Given the description of an element on the screen output the (x, y) to click on. 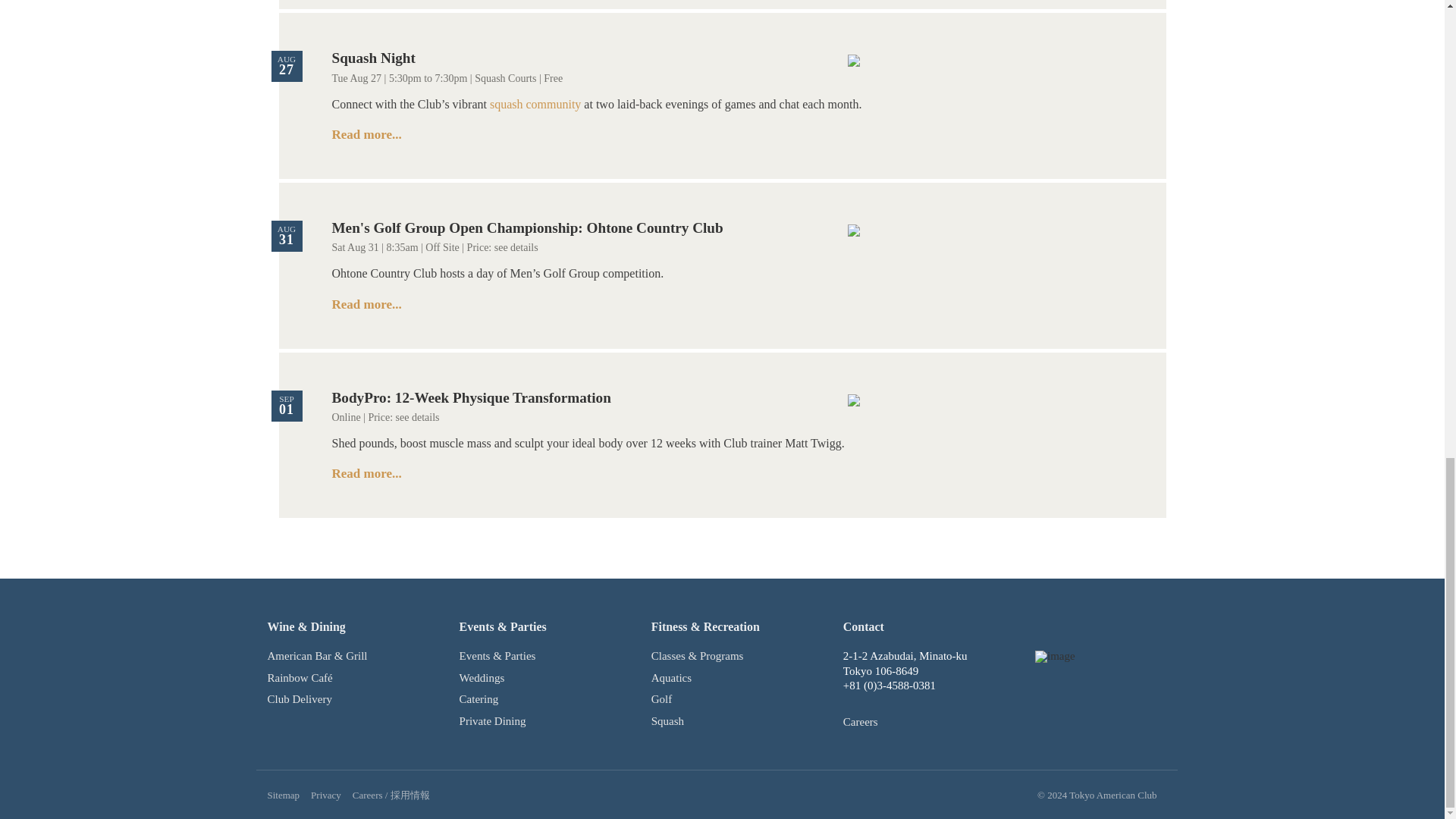
Men's Golf Group Open Championship: Ohtone Country Club (527, 227)
BodyPro: 12-Week Physique Transformation (471, 397)
Squash Night (372, 57)
